Given the description of an element on the screen output the (x, y) to click on. 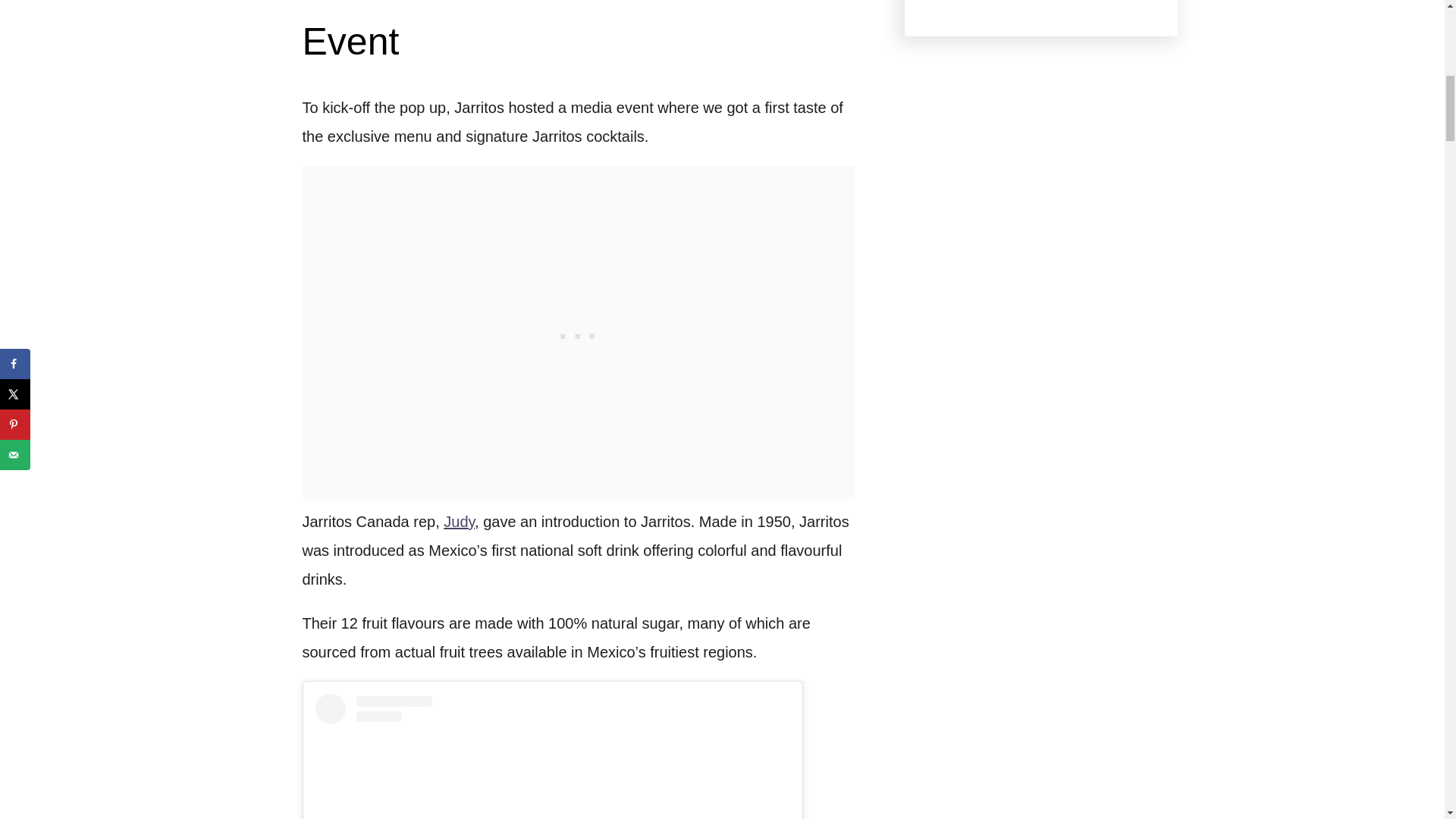
Judy (459, 521)
View this post on Instagram (552, 756)
